Given the description of an element on the screen output the (x, y) to click on. 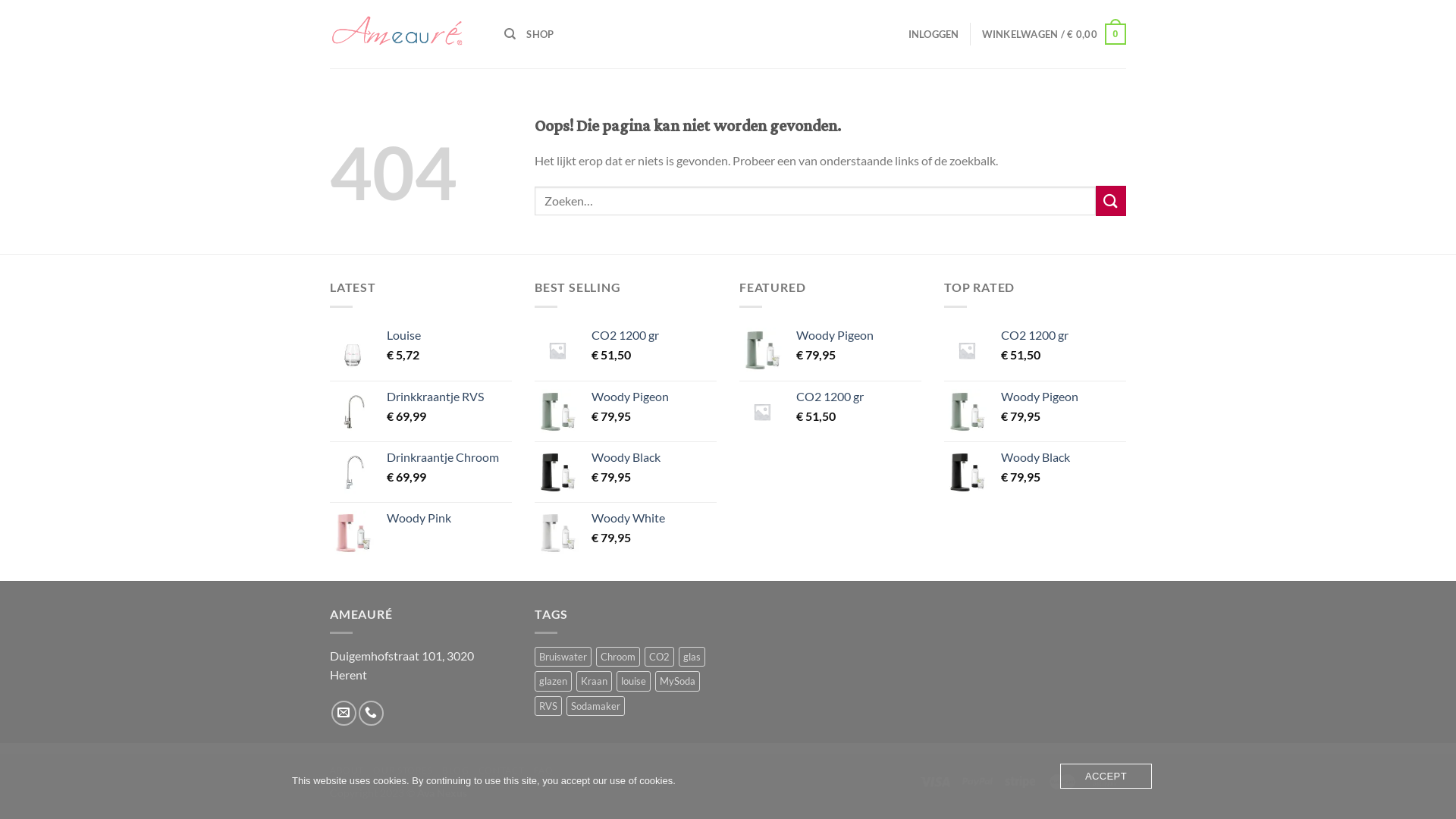
ACCEPT Element type: text (1105, 775)
Woody Black Element type: text (1063, 457)
glazen Element type: text (552, 680)
Kraan Element type: text (593, 680)
louise Element type: text (633, 680)
Louise Element type: text (448, 335)
CONTACT Element type: text (501, 769)
Woody Pink Element type: text (448, 518)
SHOP Element type: text (539, 33)
Woody Pigeon Element type: text (1063, 396)
INLOGGEN Element type: text (933, 33)
CO2 1200 gr Element type: text (858, 396)
Woody White Element type: text (653, 518)
BLOG Element type: text (455, 769)
Drinkkraantje RVS Element type: text (448, 396)
glas Element type: text (691, 656)
CO2 1200 gr Element type: text (1063, 335)
Call us Element type: hover (370, 712)
CO2 1200 gr Element type: text (653, 335)
Stuur ons een e-mail Element type: hover (343, 712)
Woody Pigeon Element type: text (858, 335)
FAQ Element type: text (543, 769)
Bruiswater Element type: text (562, 656)
ABOUT Element type: text (346, 769)
OUR STORES Element type: text (402, 769)
CO2 Element type: text (659, 656)
Woody Pigeon Element type: text (653, 396)
RVS Element type: text (547, 705)
Drinkraantje Chroom Element type: text (448, 457)
Chroom Element type: text (618, 656)
Sodamaker Element type: text (595, 705)
Woody Black Element type: text (653, 457)
MySoda Element type: text (677, 680)
